Given the description of an element on the screen output the (x, y) to click on. 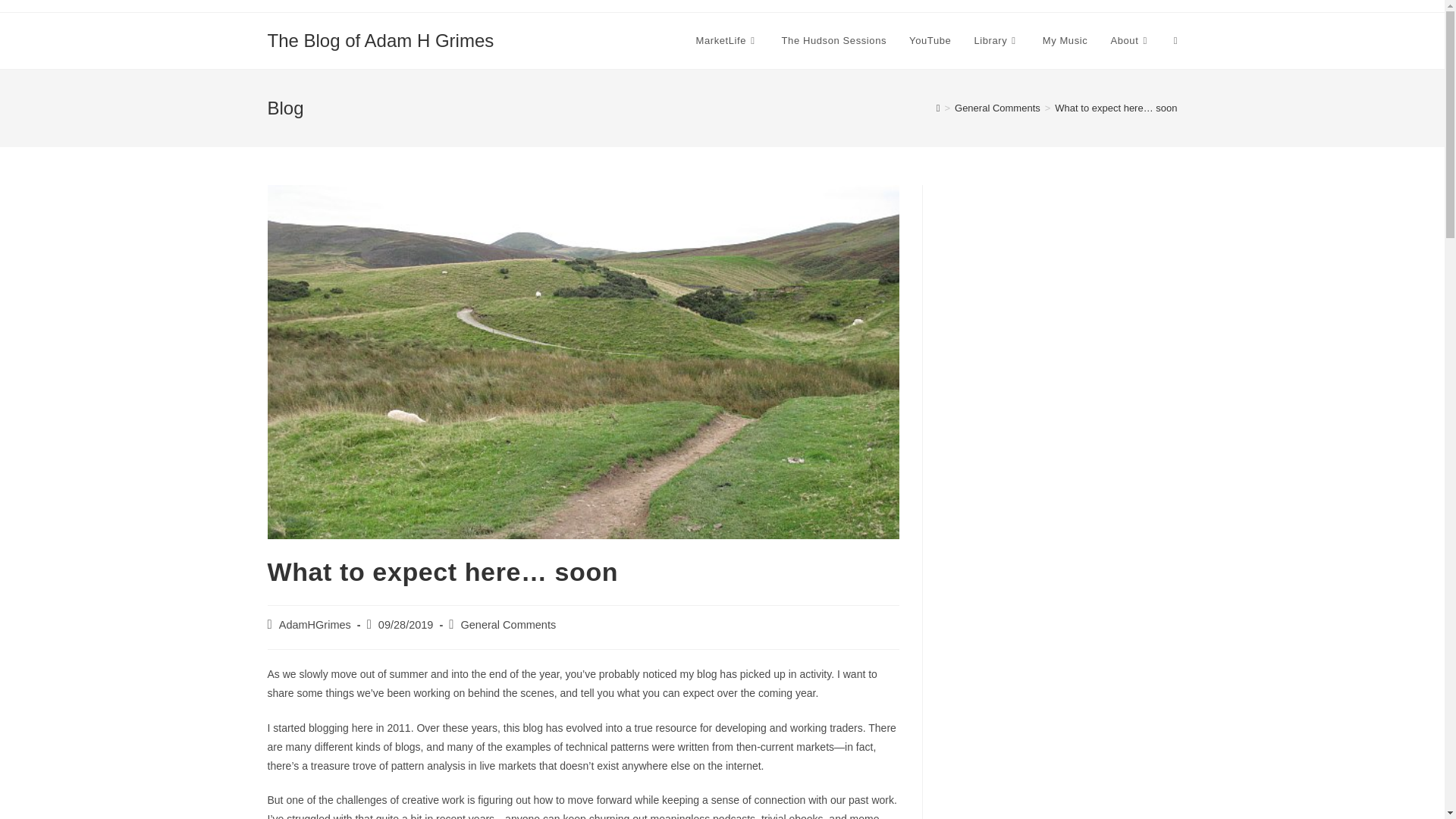
Library (996, 40)
YouTube (930, 40)
Posts by AdamHGrimes (314, 624)
The Blog of Adam H Grimes (379, 40)
About (1130, 40)
MarketLife (727, 40)
The Hudson Sessions (834, 40)
My Music (1064, 40)
